Given the description of an element on the screen output the (x, y) to click on. 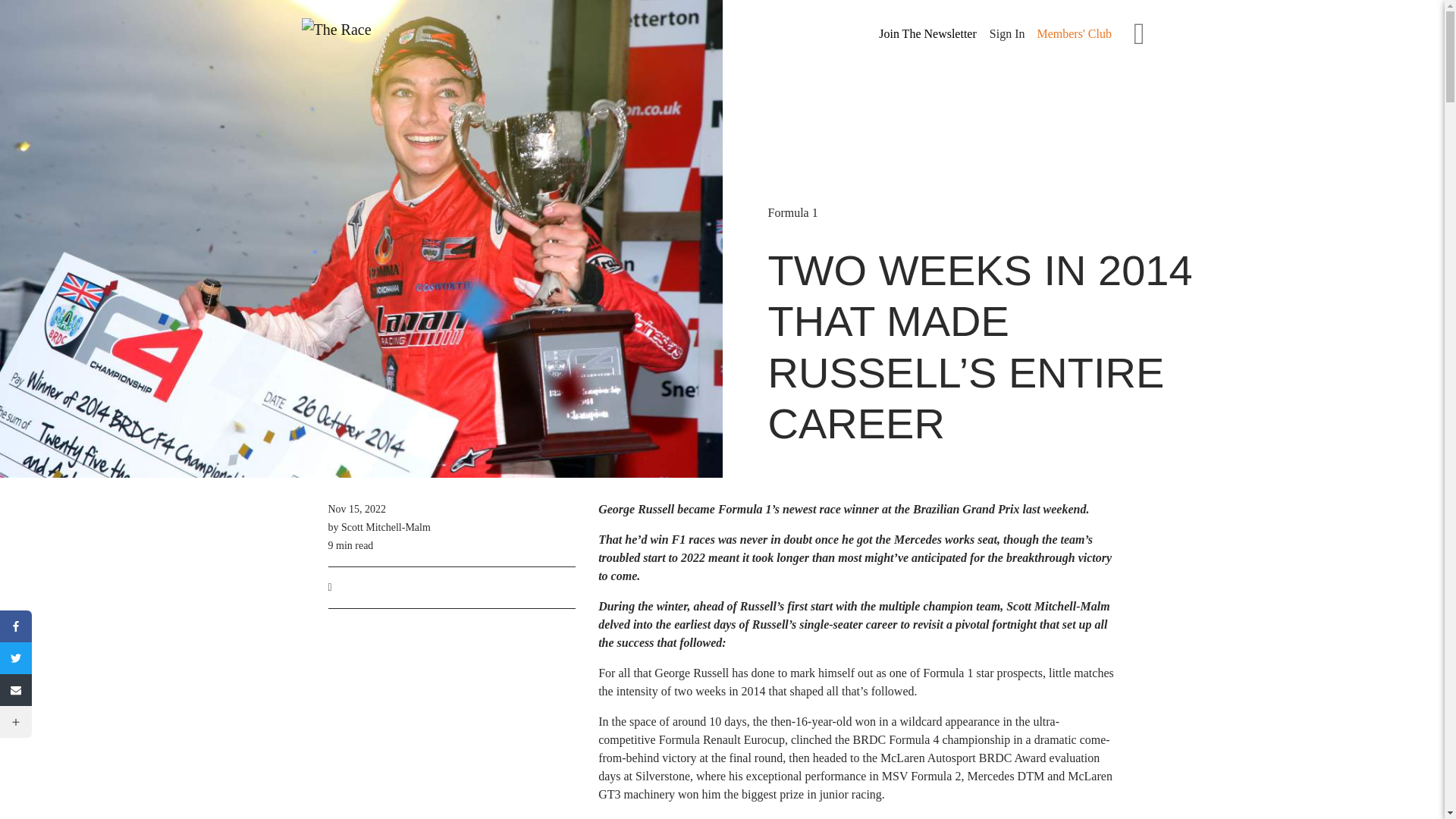
Sign In (1007, 33)
Members' Club (1073, 33)
Join The Newsletter (926, 34)
